Given the description of an element on the screen output the (x, y) to click on. 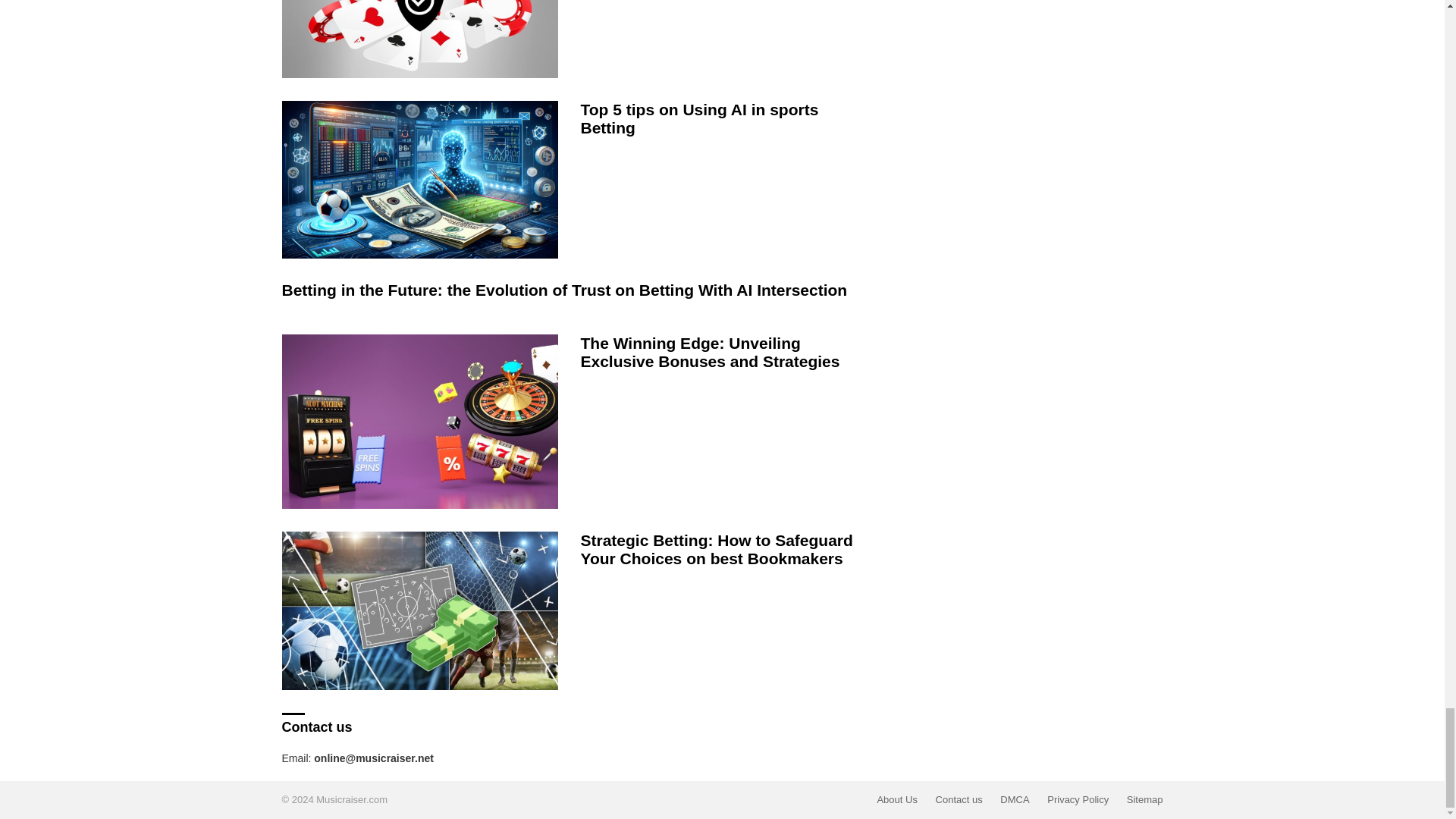
The Winning Edge: Unveiling Exclusive Bonuses and Strategies (419, 421)
Top 5 tips on Using AI in sports Betting (419, 179)
